Given the description of an element on the screen output the (x, y) to click on. 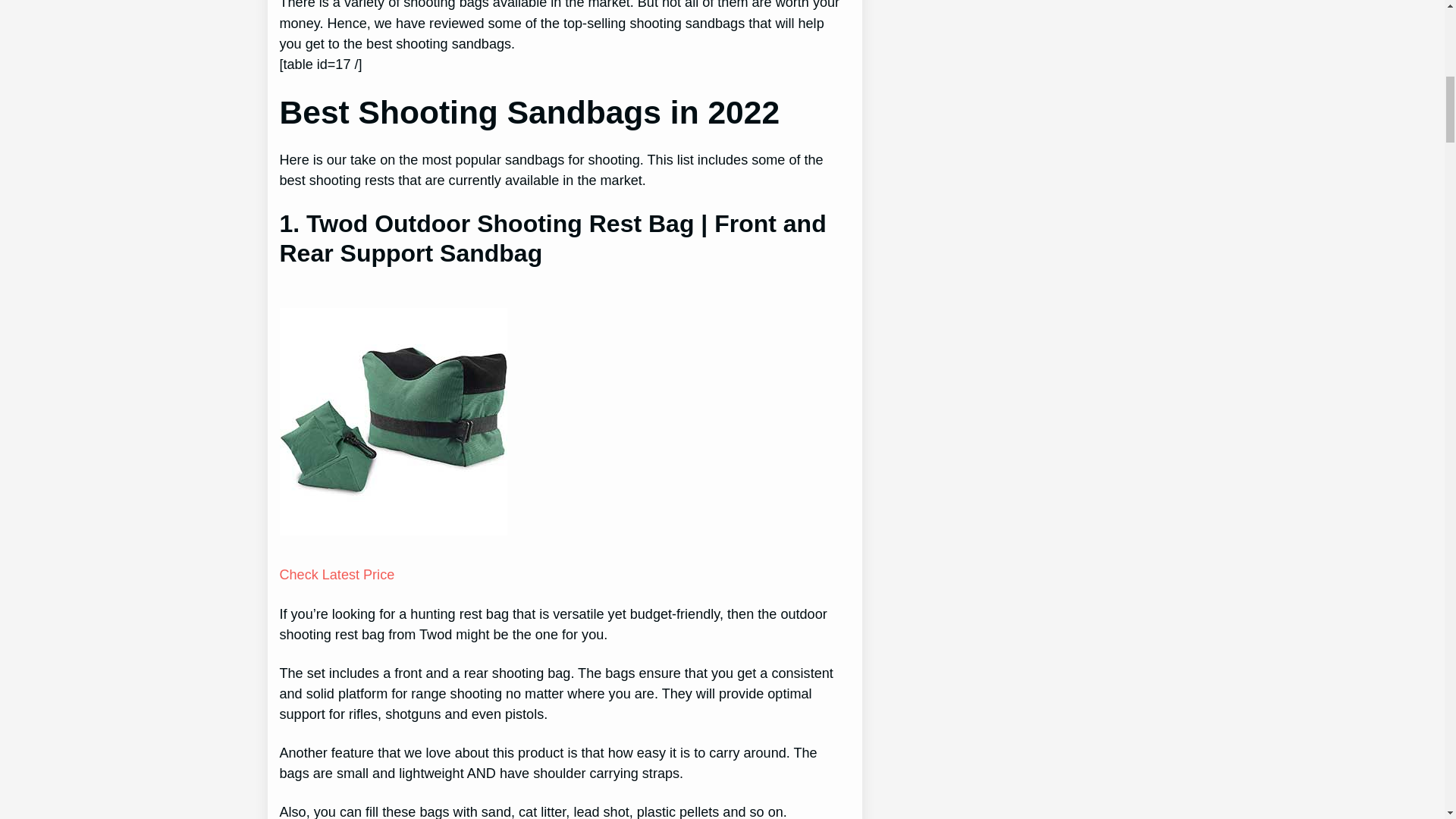
Check Latest Price (336, 574)
